Given the description of an element on the screen output the (x, y) to click on. 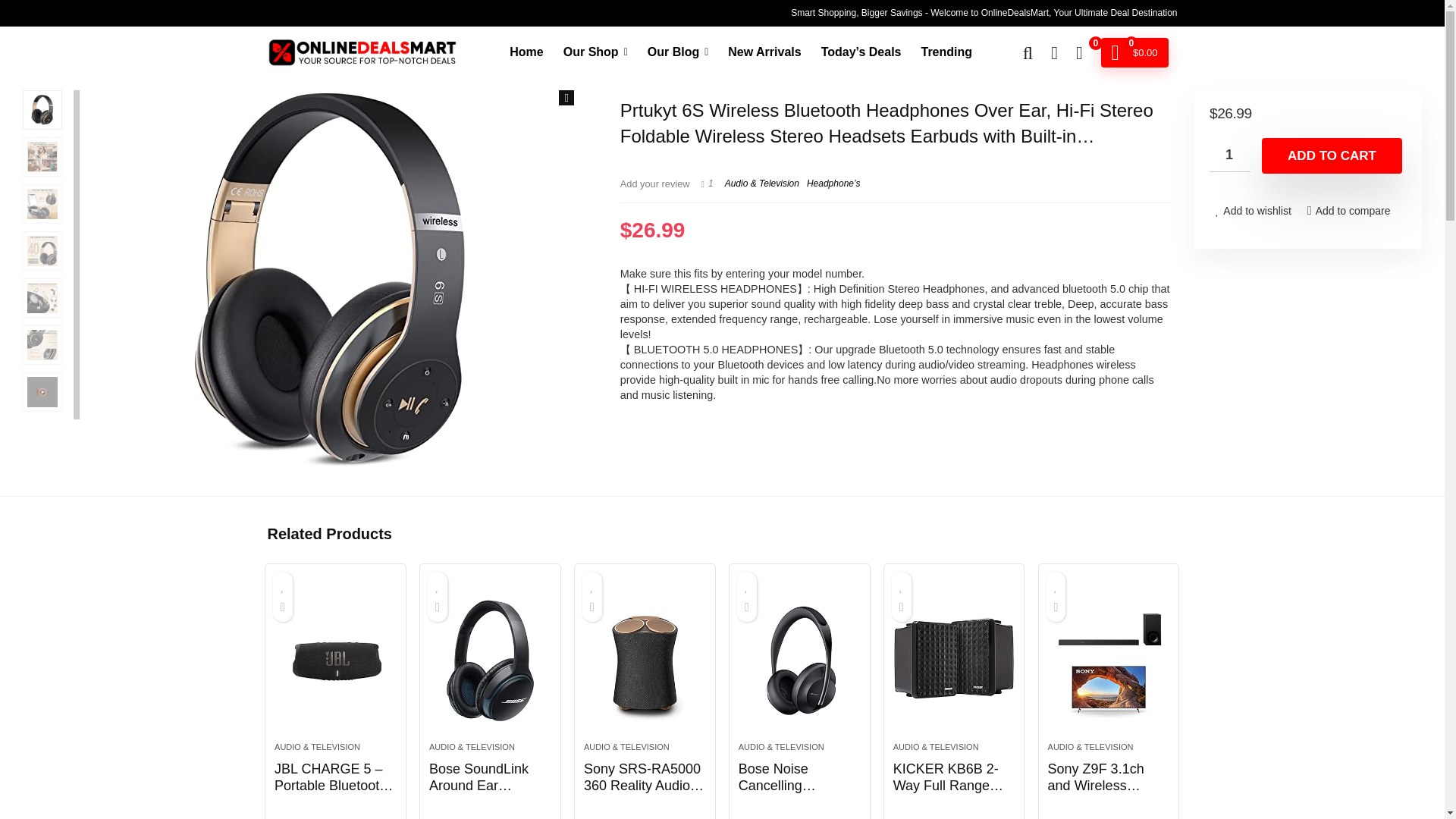
1 (1229, 154)
Home (526, 51)
Add your review (655, 183)
Our Shop (595, 51)
